Given the description of an element on the screen output the (x, y) to click on. 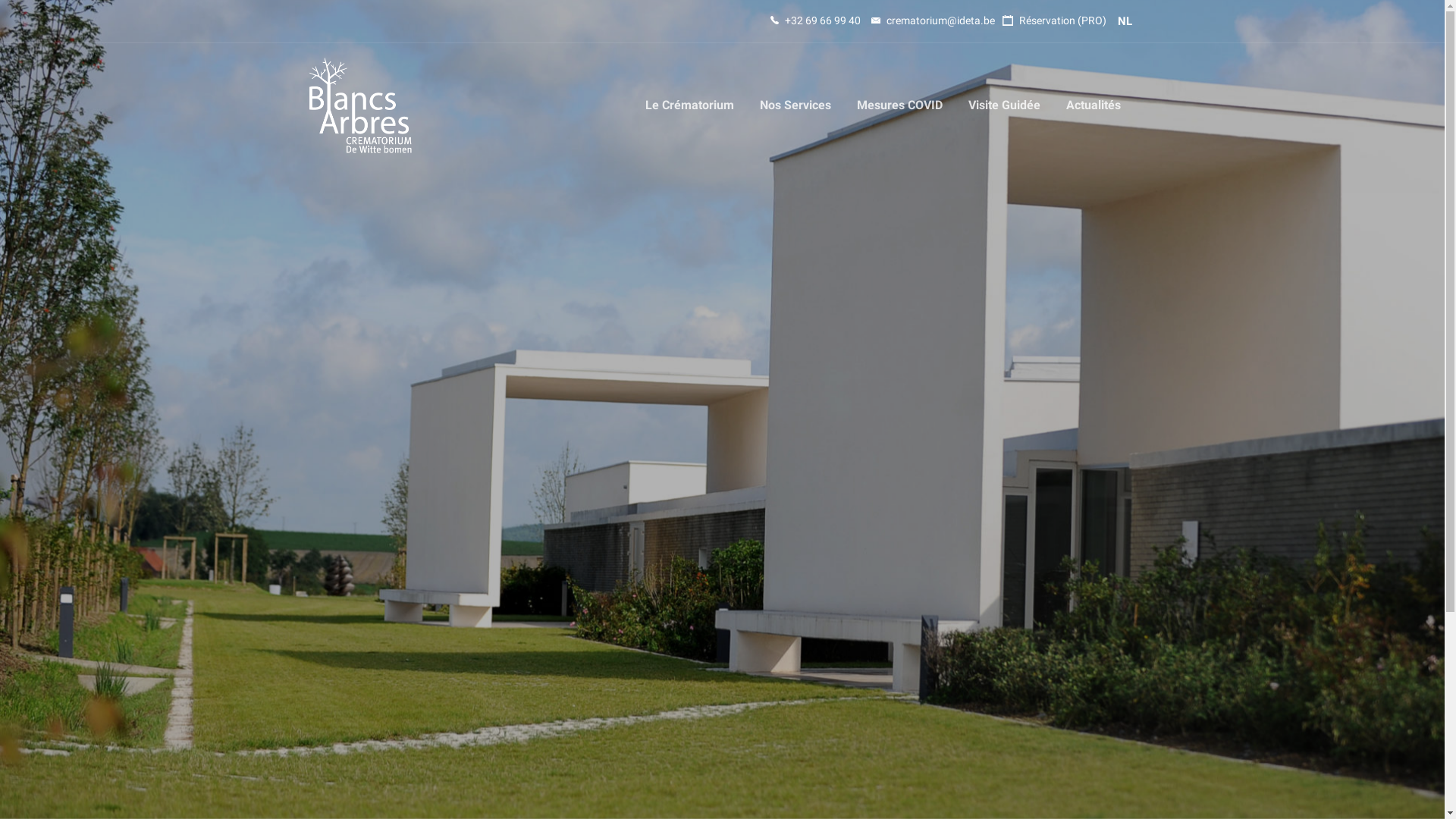
crematorium@ideta.be Element type: text (589, 696)
Nous contacter Element type: text (773, 605)
Sitemap Element type: text (754, 703)
NL Element type: text (1124, 21)
+32 69 66 99 40 Element type: text (815, 20)
Mesures COVID Element type: text (898, 105)
Nos Services Element type: text (794, 105)
crematorium@ideta.be Element type: text (932, 20)
